Given the description of an element on the screen output the (x, y) to click on. 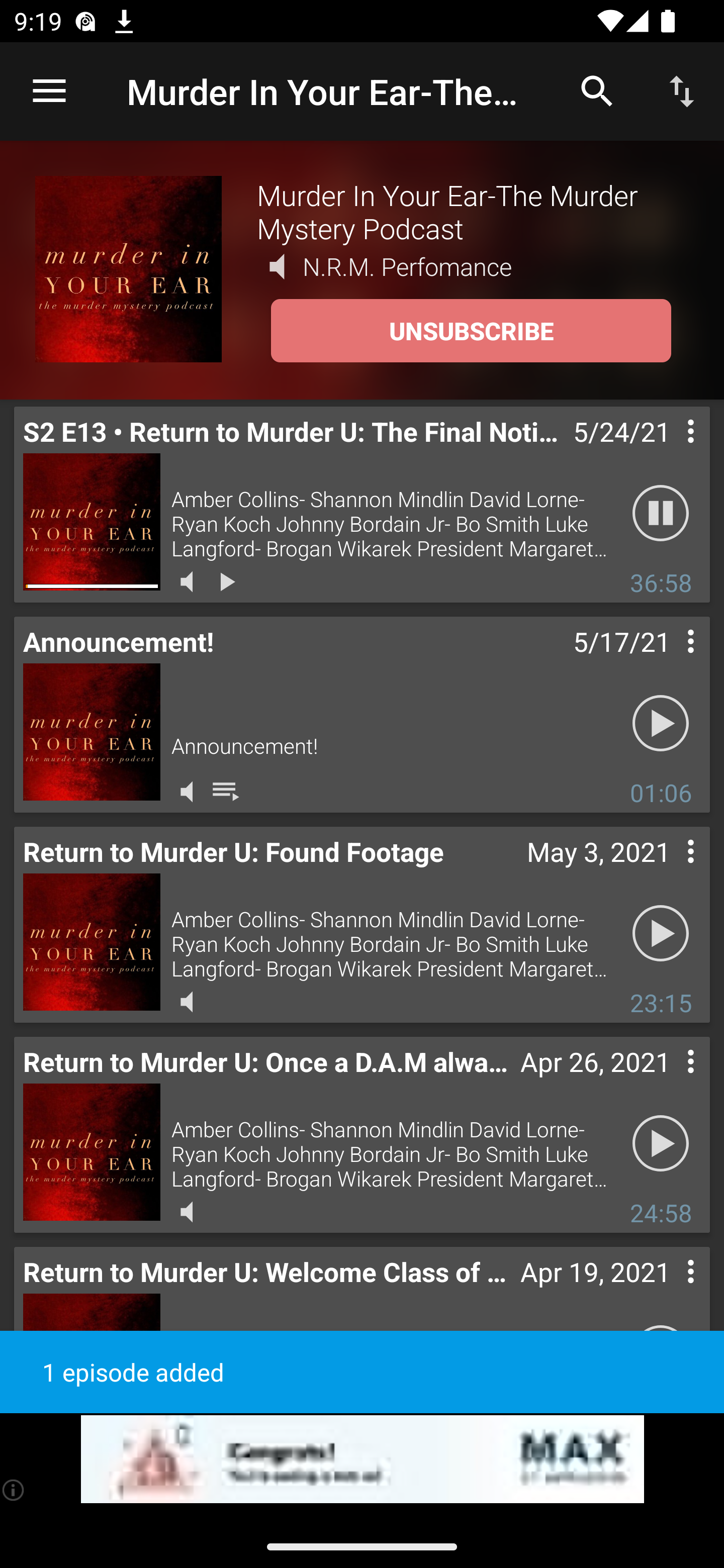
Open navigation sidebar (49, 91)
Search (597, 90)
Sort (681, 90)
UNSUBSCRIBE (470, 330)
Contextual menu (668, 451)
Pause (660, 513)
Contextual menu (668, 661)
Play (660, 723)
Contextual menu (668, 870)
Play (660, 933)
Contextual menu (668, 1080)
Play (660, 1143)
Contextual menu (668, 1290)
app-monetization (362, 1459)
(i) (14, 1489)
